Given the description of an element on the screen output the (x, y) to click on. 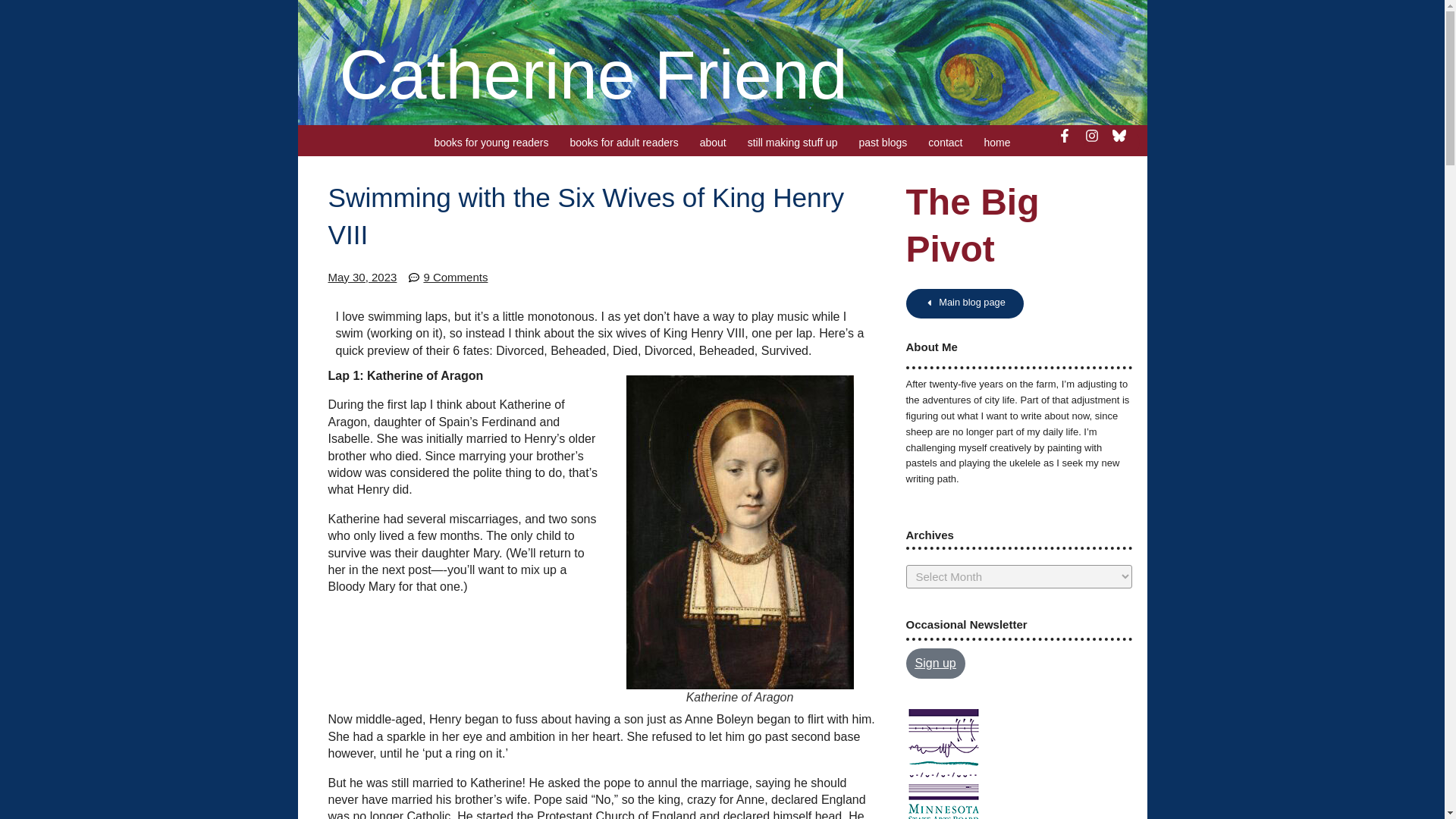
books for young readers (491, 142)
books for adult readers (623, 142)
May 30, 2023 (361, 277)
past blogs (883, 142)
still making stuff up (792, 142)
contact (944, 142)
home (996, 142)
about (712, 142)
9 Comments (448, 277)
